Given the description of an element on the screen output the (x, y) to click on. 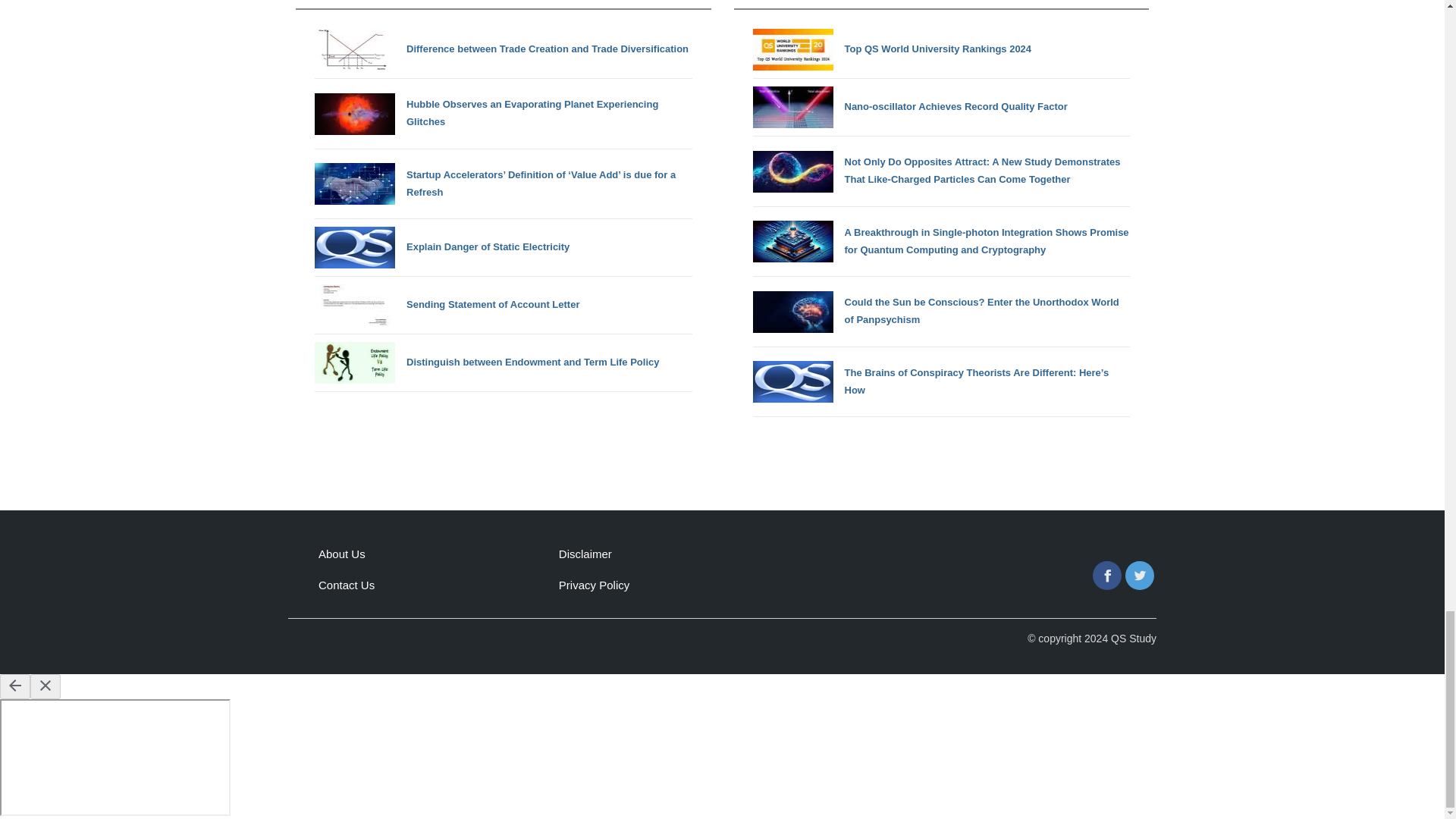
Nano-oscillator Achieves Record Quality Factor (940, 106)
About Us (341, 553)
Hubble Observes an Evaporating Planet Experiencing Glitches (503, 113)
Distinguish between Endowment and Term Life Policy (503, 363)
Difference between Trade Creation and Trade Diversification (503, 49)
Contact Us (346, 584)
Explain Danger of Static Electricity (503, 247)
Top QS World University Rankings 2024 (940, 49)
Sending Statement of Account Letter (503, 304)
